Given the description of an element on the screen output the (x, y) to click on. 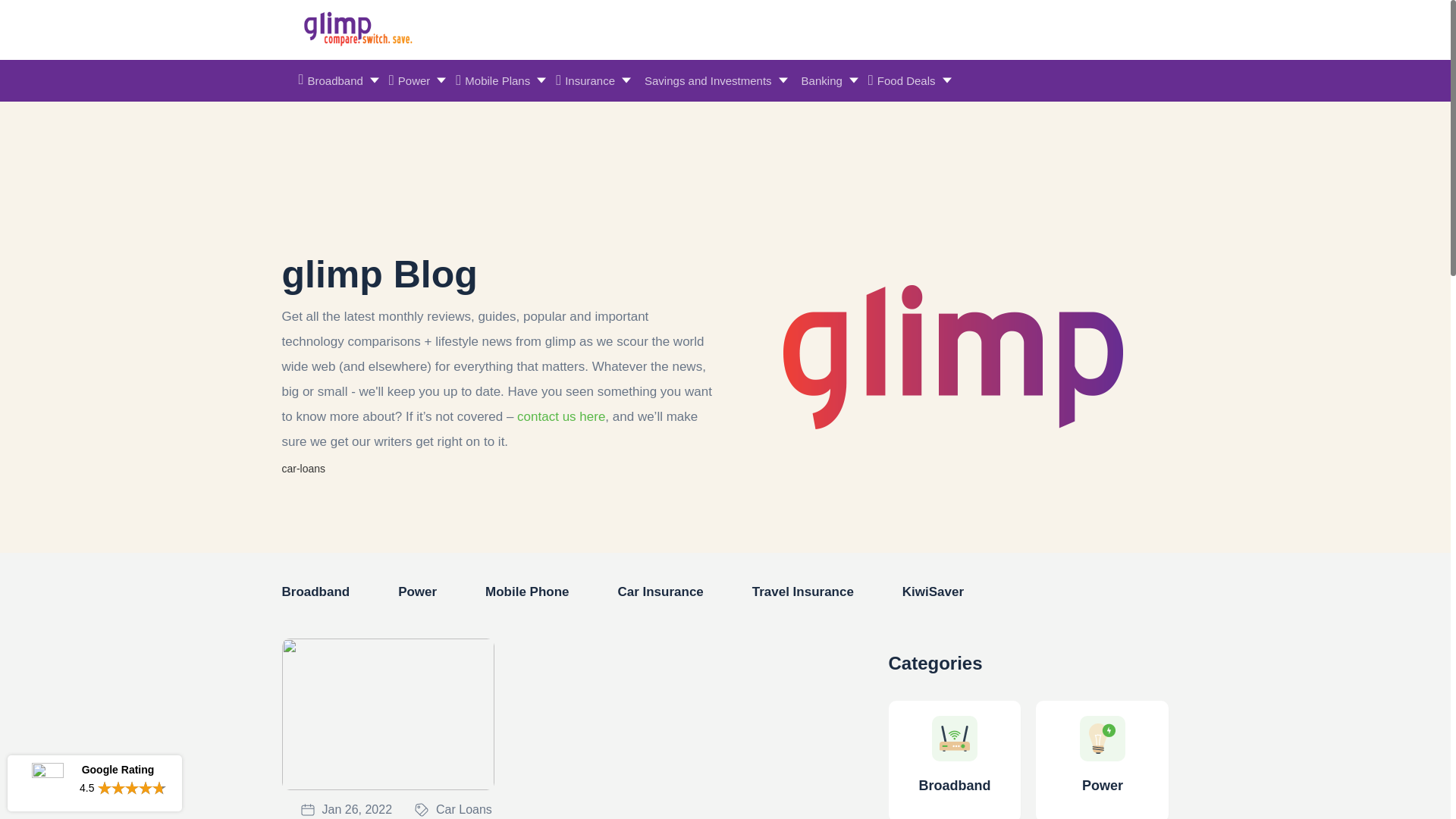
Broadband (337, 80)
Insurance (592, 80)
Mobile Plans (499, 80)
Power (416, 80)
